Given the description of an element on the screen output the (x, y) to click on. 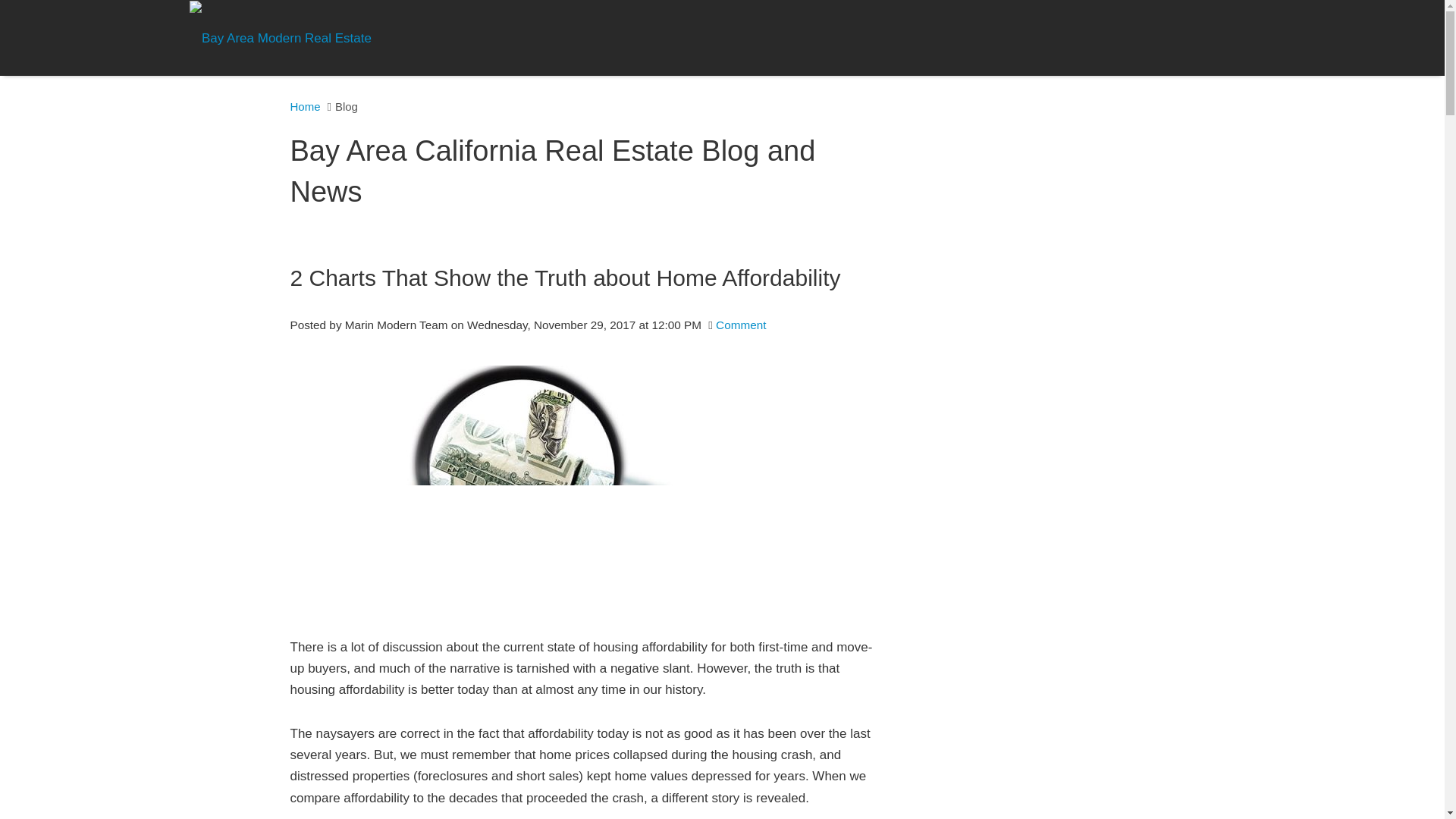
2 Charts That Show the Truth about Home Affordability (584, 278)
